Given the description of an element on the screen output the (x, y) to click on. 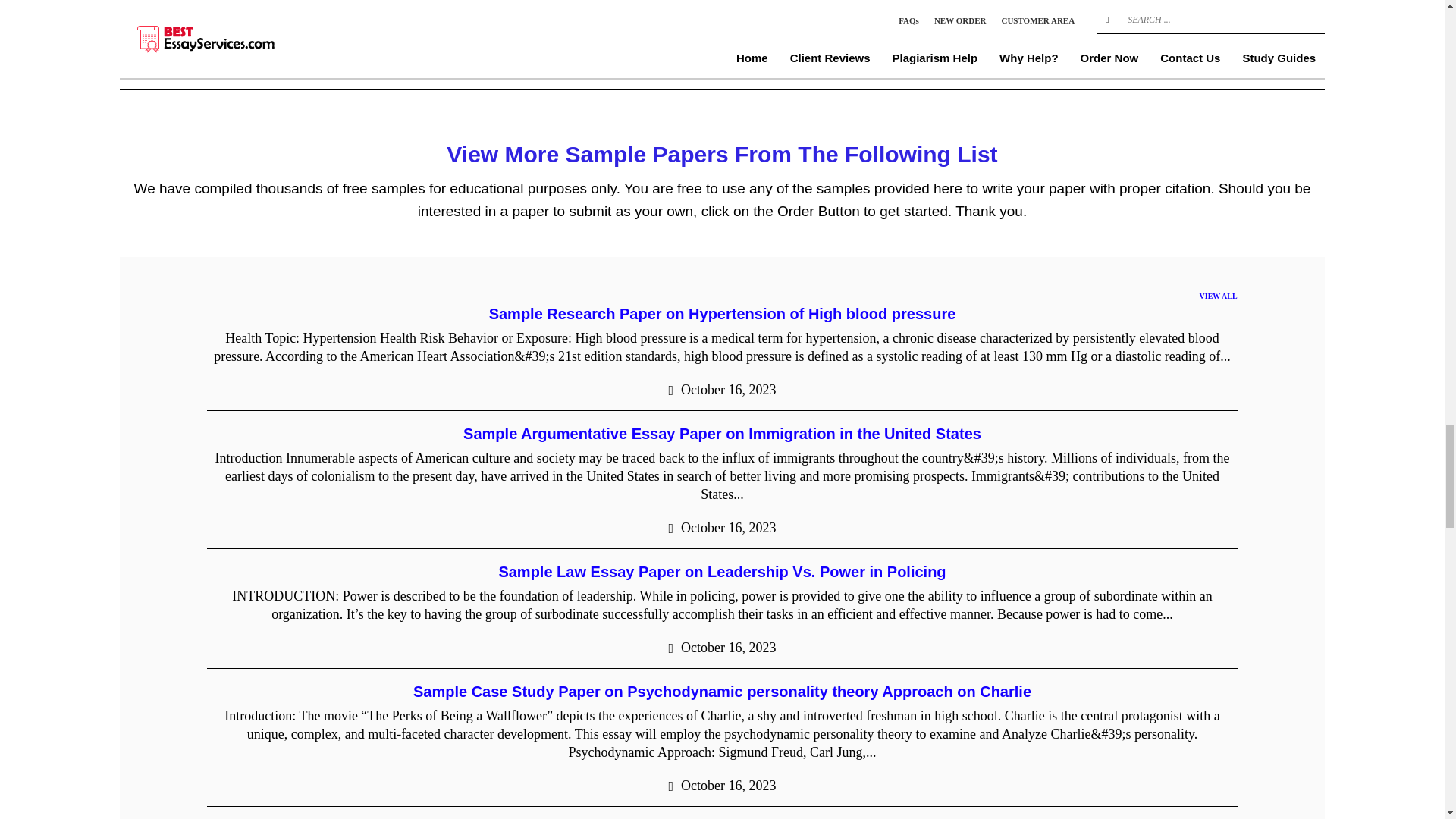
Calculate Order Price (806, 14)
VIEW ALL (1218, 296)
Sample Law Essay Paper on Leadership Vs. Power in Policing (720, 571)
Sample Research Paper on Hypertension of High blood pressure (722, 313)
Order Homework Help (640, 14)
